Given the description of an element on the screen output the (x, y) to click on. 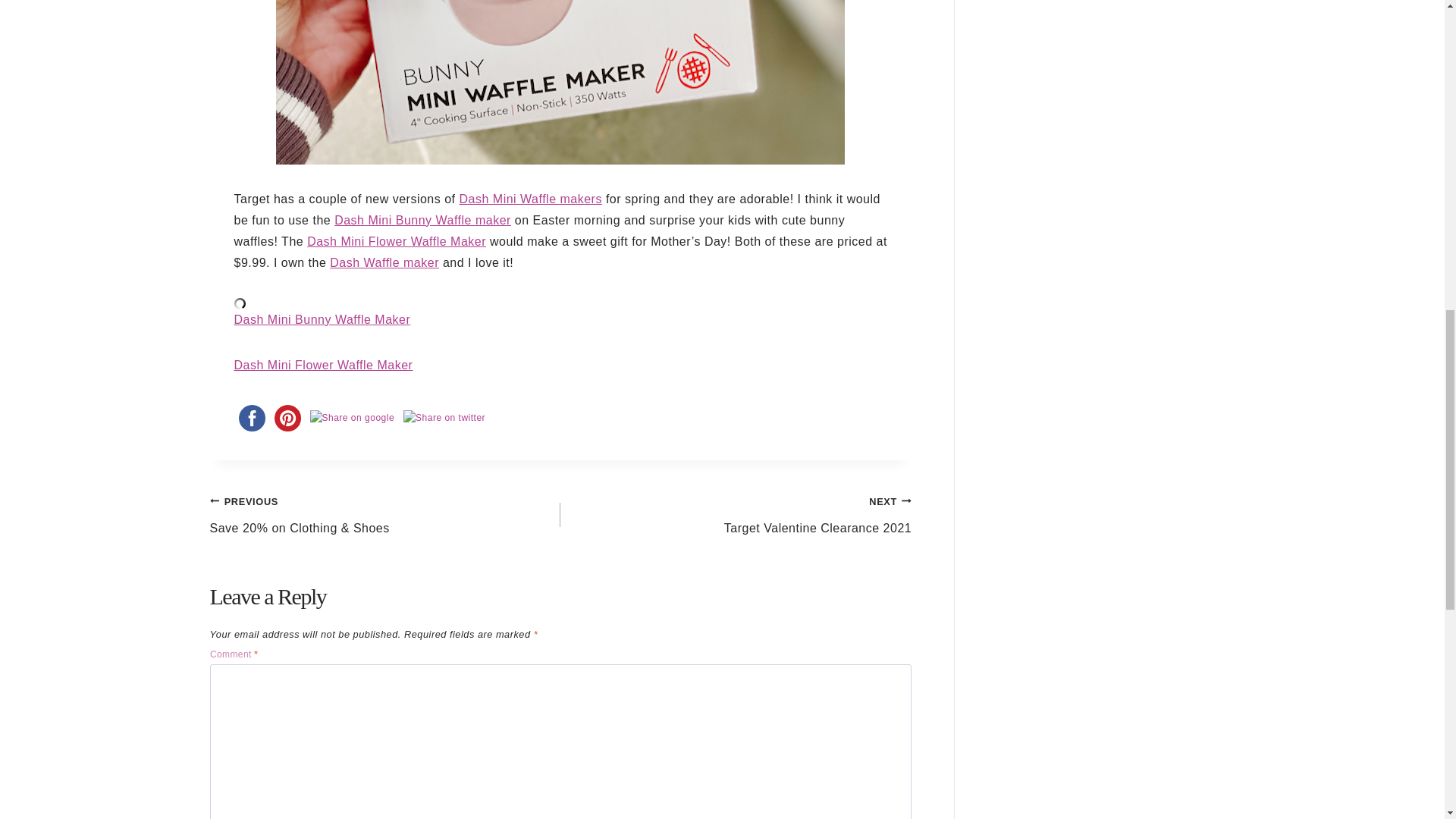
Dash Mini Waffle makers (735, 514)
Dash Mini Flower Waffle Maker (531, 198)
Dash Mini Bunny Waffle maker (396, 241)
pinterest (422, 219)
Dash Mini Bunny Waffle Maker (287, 417)
google (321, 318)
Dash Mini Flower Waffle Maker (351, 417)
facebook (322, 364)
Dash Waffle maker (250, 417)
twitter (384, 262)
